Given the description of an element on the screen output the (x, y) to click on. 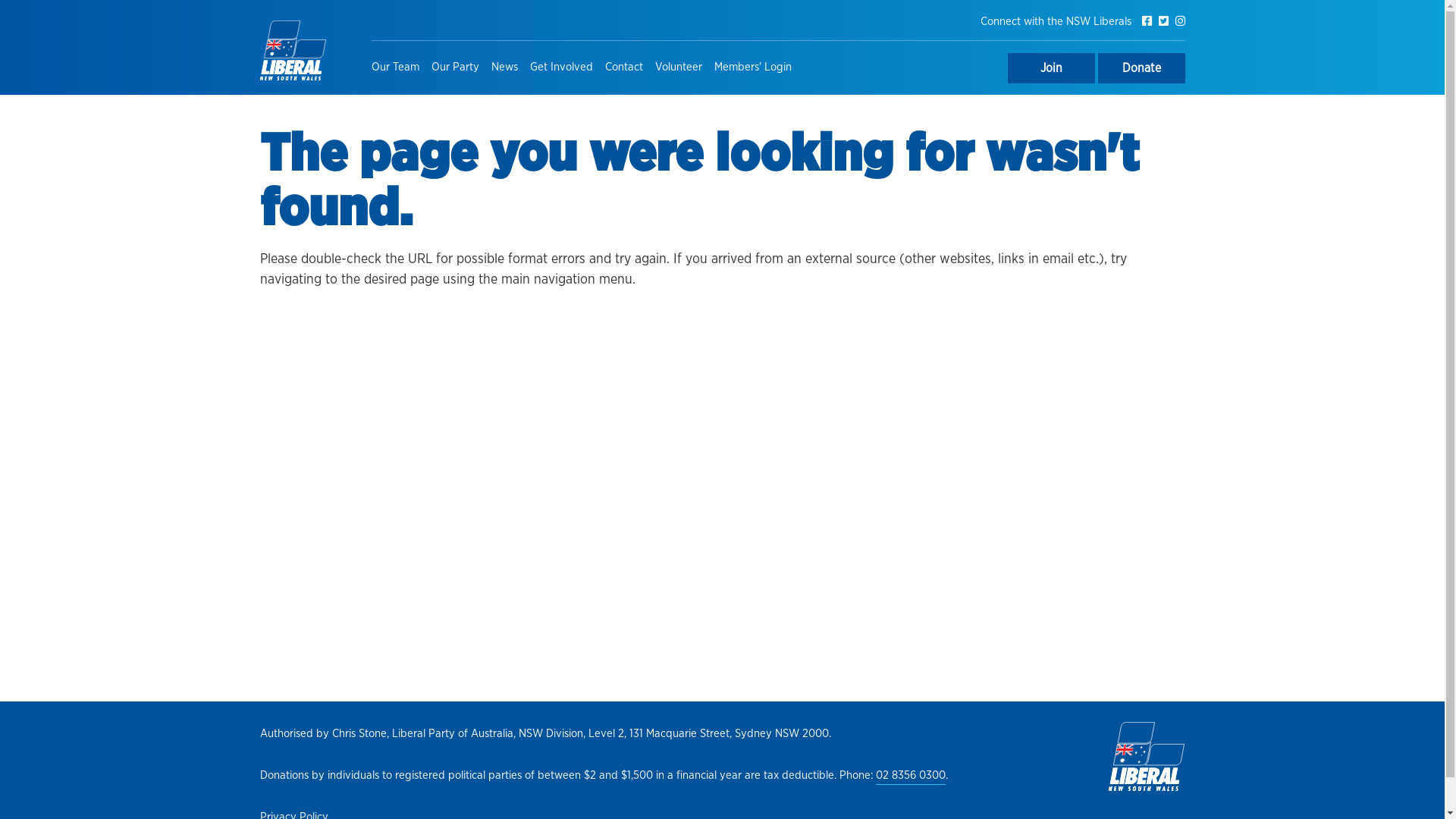
News Element type: text (504, 68)
02 8356 0300 Element type: text (909, 776)
Contact Element type: text (624, 68)
Facebook Element type: hover (1148, 22)
Get Involved Element type: text (561, 68)
Donate Element type: text (1141, 68)
Volunteer Element type: text (678, 68)
Our Party Element type: text (455, 68)
Twitter Element type: hover (1164, 22)
Instagram Element type: hover (1180, 22)
Members' Login Element type: text (752, 68)
Join Element type: text (1050, 68)
Our Team Element type: text (398, 68)
